Given the description of an element on the screen output the (x, y) to click on. 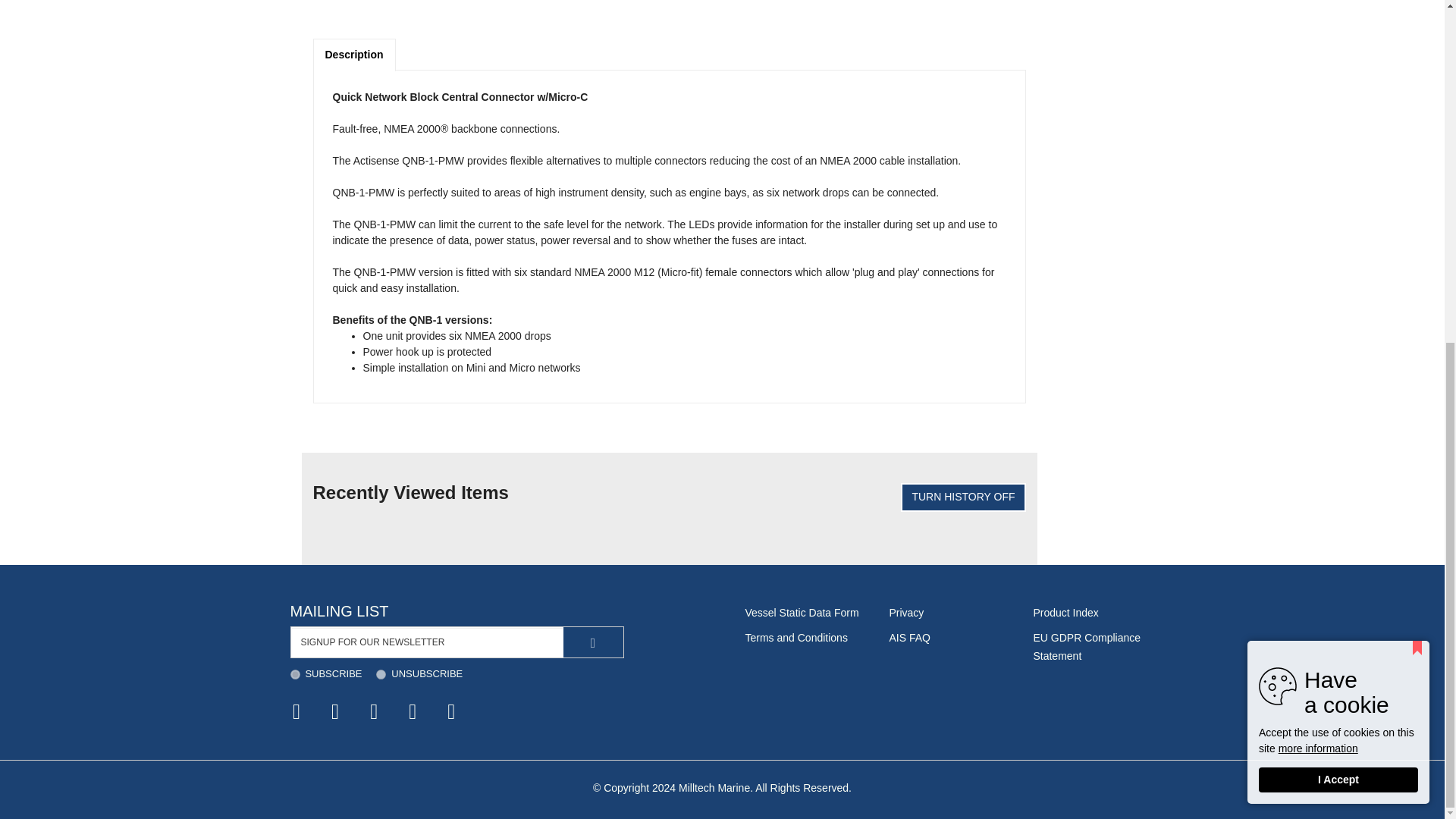
Like Us on Facebook (296, 712)
Subscribe to our Channel (373, 712)
LiveChat chat widget (1412, 202)
Subscribe to our Blog (450, 712)
1 (294, 674)
Follow Us on Instagram (412, 712)
Follow Us on Twitter (335, 712)
0 (380, 674)
